Given the description of an element on the screen output the (x, y) to click on. 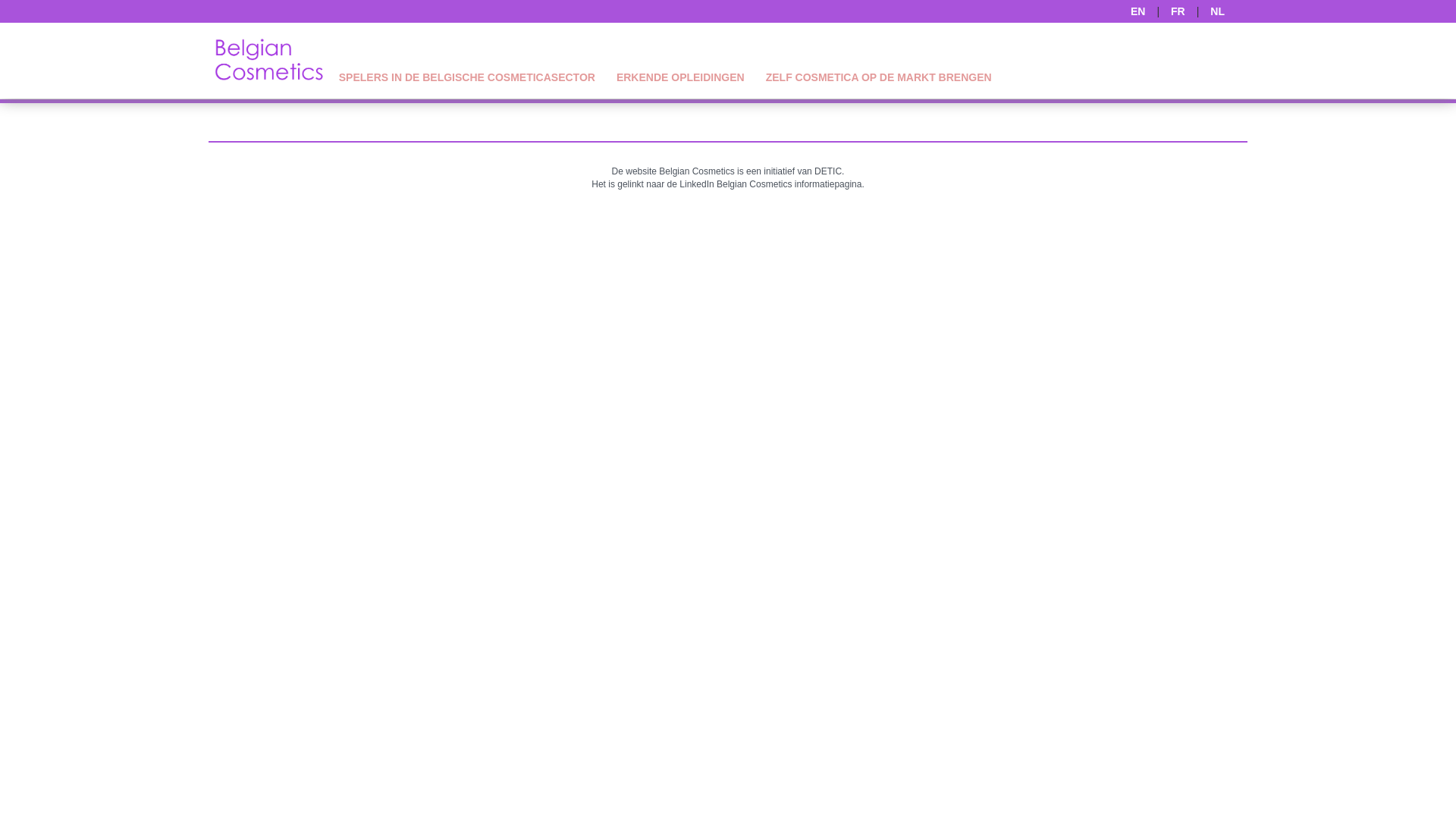
NL Element type: text (1217, 11)
SPELERS IN DE BELGISCHE COSMETICASECTOR Element type: text (466, 78)
ERKENDE OPLEIDINGEN Element type: text (680, 78)
FR Element type: text (1177, 11)
logo Element type: hover (268, 60)
ZELF COSMETICA OP DE MARKT BRENGEN Element type: text (878, 78)
EN Element type: text (1137, 11)
